Given the description of an element on the screen output the (x, y) to click on. 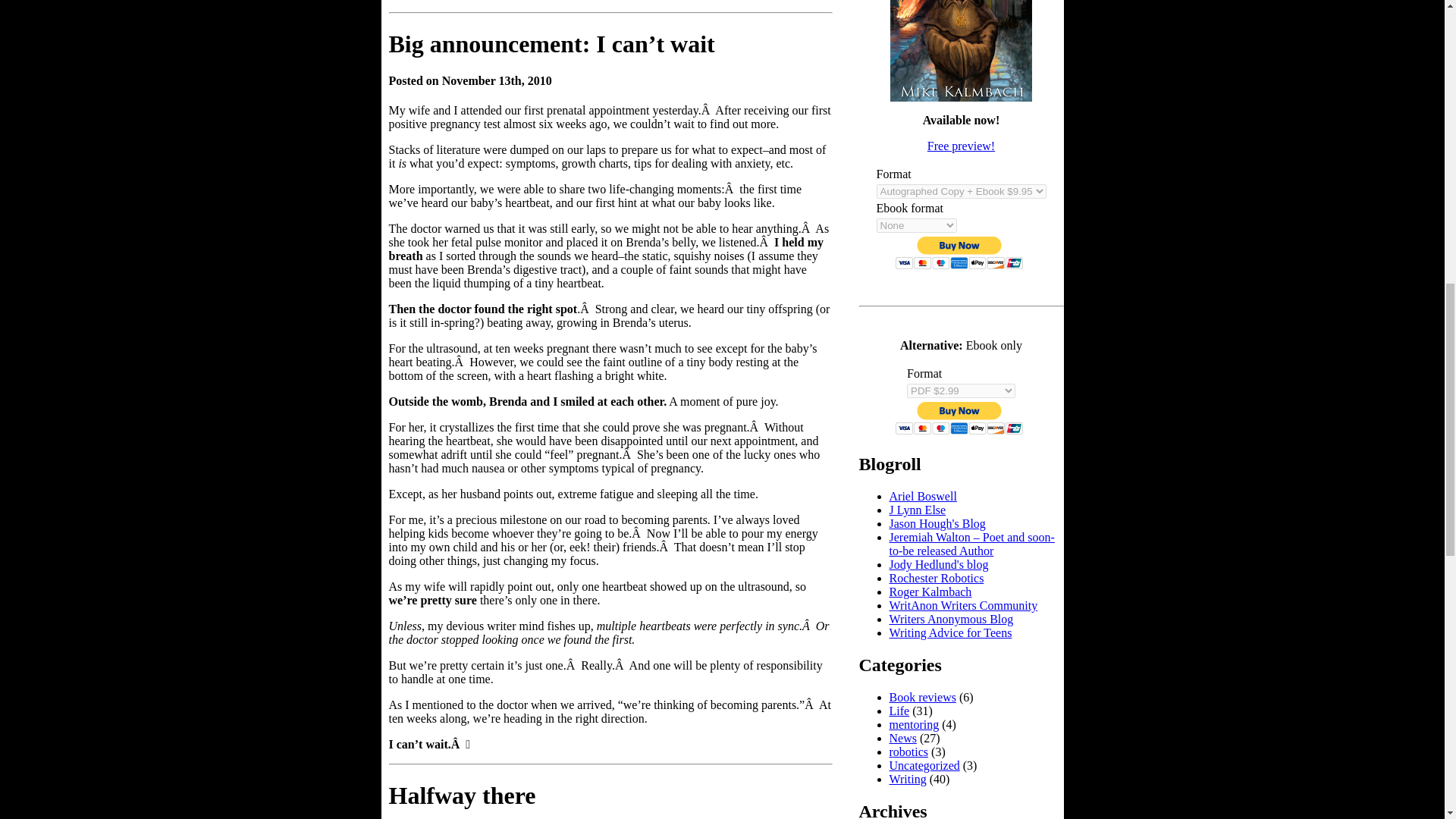
Rochester Robotics (936, 577)
Free preview! (960, 145)
Writers Anonymous Blog (950, 618)
Life (898, 710)
Book reviews (921, 697)
mentoring (913, 724)
Halfway there (461, 795)
Ariel Boswell (922, 495)
Jason Hough's Blog (936, 522)
Uncategorized (923, 765)
Writers Anonymous Blog (950, 618)
Writers Community (962, 604)
Author of The Forgotten series! (916, 509)
Jody Hedlund's blog (938, 563)
Roger Kalmbach (929, 591)
